Given the description of an element on the screen output the (x, y) to click on. 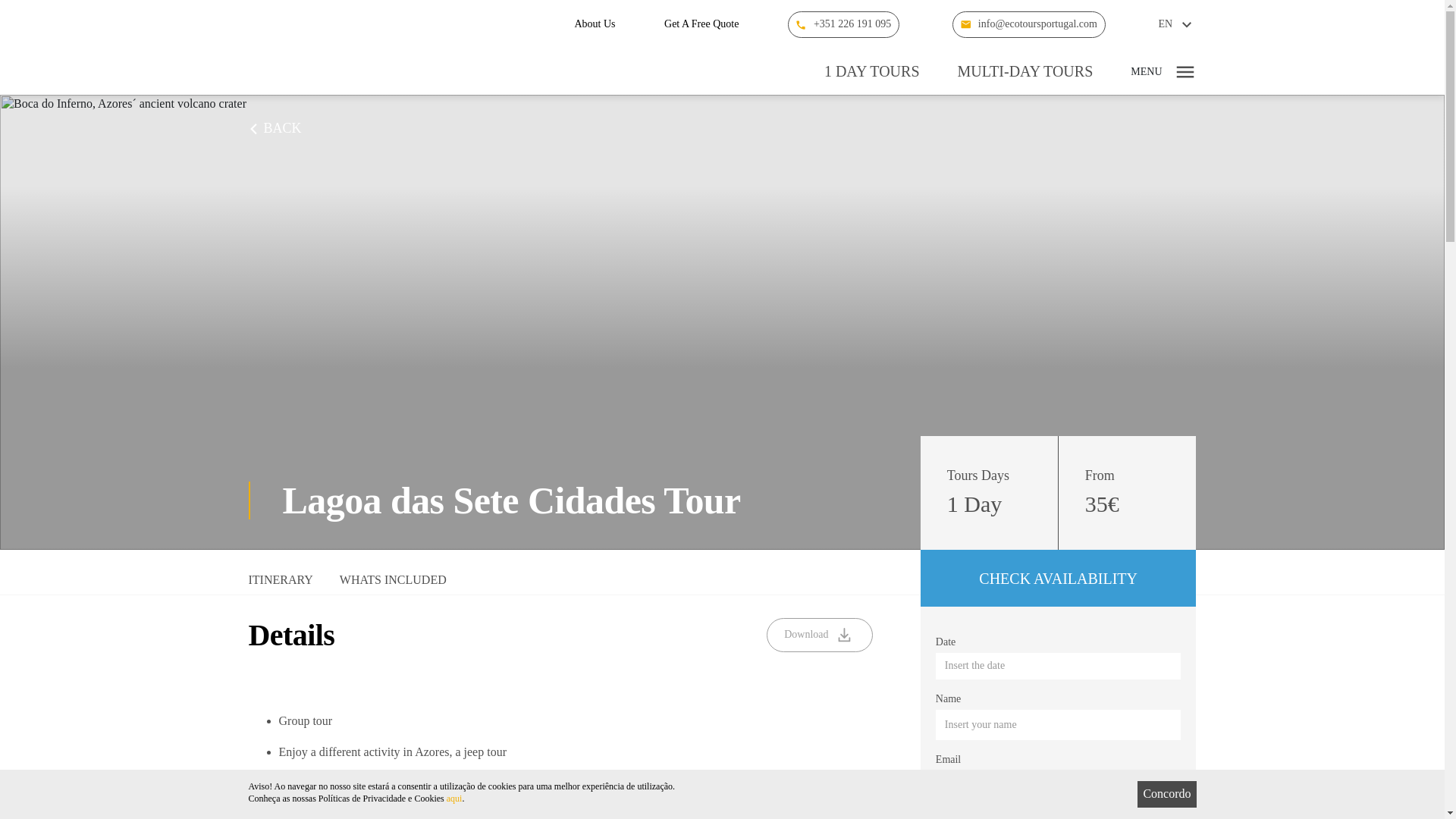
MENU (1163, 71)
MULTI-DAY TOURS (1025, 71)
1 DAY TOURS (872, 71)
ITINERARY (280, 583)
Get A Free Quote (700, 24)
Download (819, 634)
WHATS INCLUDED (392, 583)
About Us (593, 24)
BACK (274, 128)
